Given the description of an element on the screen output the (x, y) to click on. 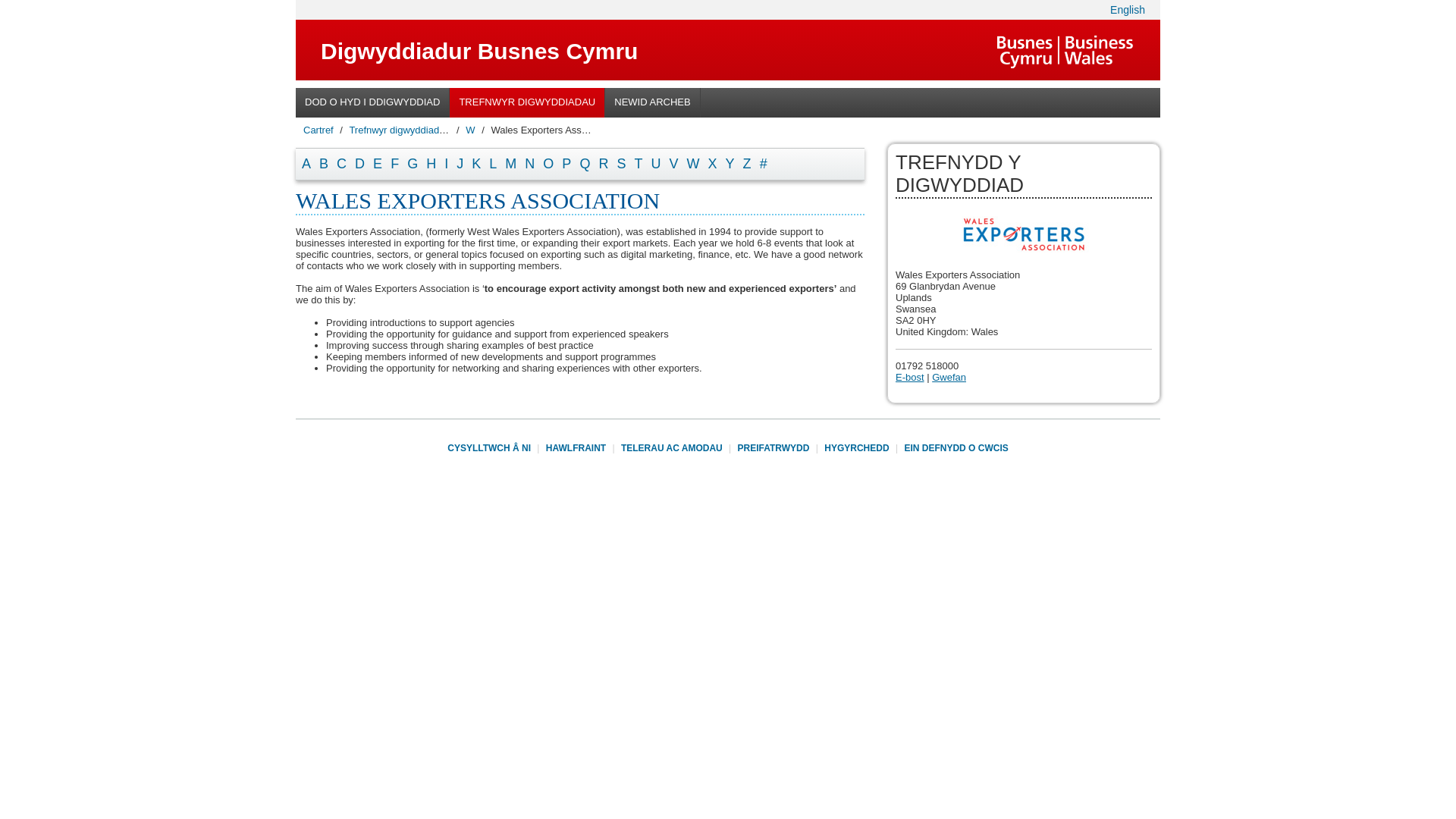
Hygyrchedd (856, 448)
Preifatrwydd (773, 448)
Dod o hyd i ddigwyddiad (371, 102)
Newid archeb (651, 102)
NEWID ARCHEB (651, 102)
Gwefan (948, 377)
Digwyddiadur Busnes Cymru (478, 51)
E-bost (909, 377)
Hawlfraint (575, 448)
English (1126, 9)
Trefnwyr digwyddiadau (399, 129)
Cartref (317, 129)
Ein defnydd o cwcis (955, 448)
Digwyddiadur Busnes Cymru (478, 51)
Edrychwch ar y wefan ar gyfer y trefnydd (948, 377)
